Given the description of an element on the screen output the (x, y) to click on. 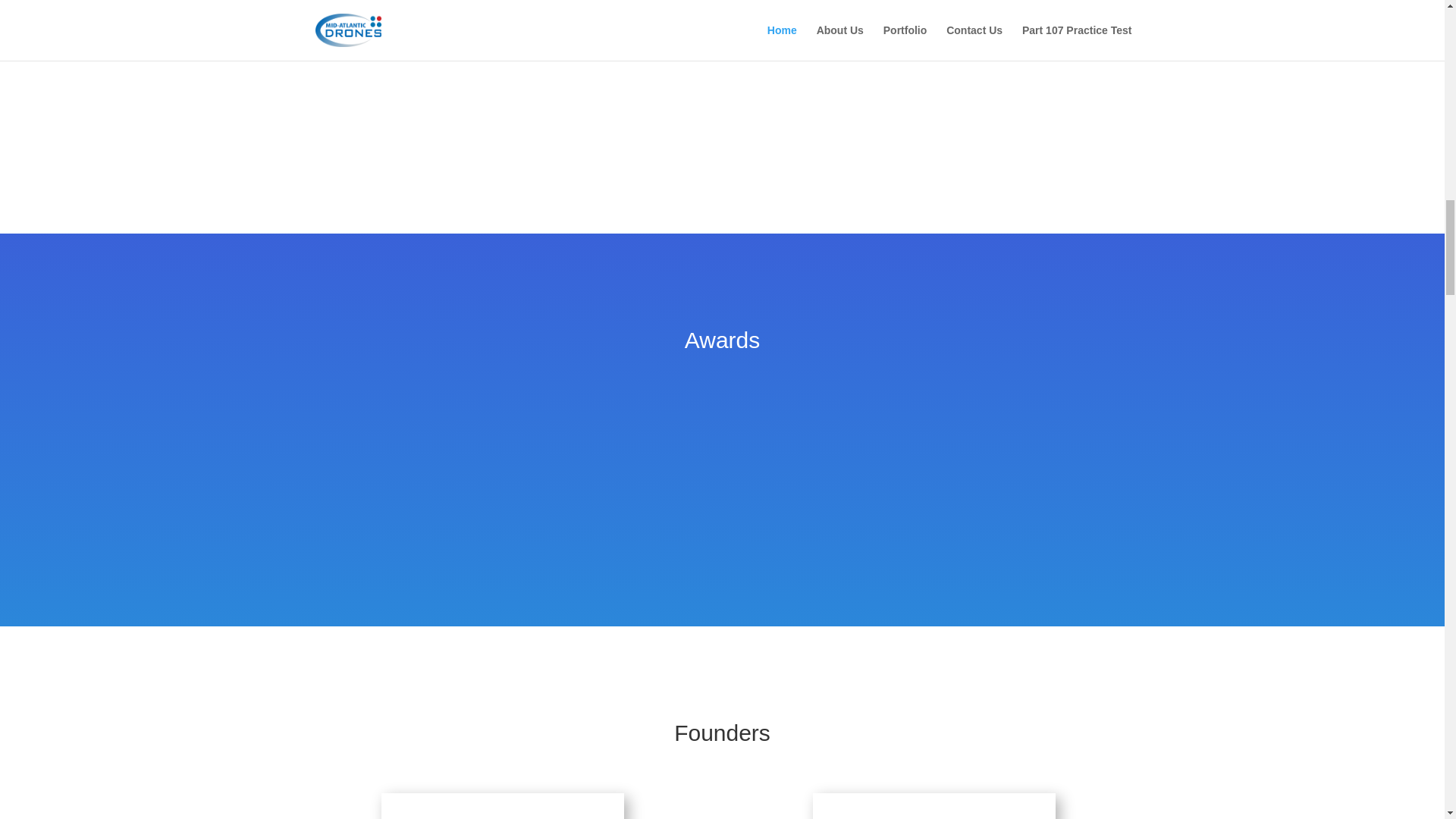
9AA5F67B-E2AE-4B84-9C11-60611B6175AC-removebg-preview (1067, 443)
aegisawards (722, 443)
3C5A294A-5F05-4396-AE38-FD4CBE68E0AA-removebg-preview (894, 482)
FB44532E-1247-489D-85B3-80DDB06357AC-removebg-preview (548, 443)
